Given the description of an element on the screen output the (x, y) to click on. 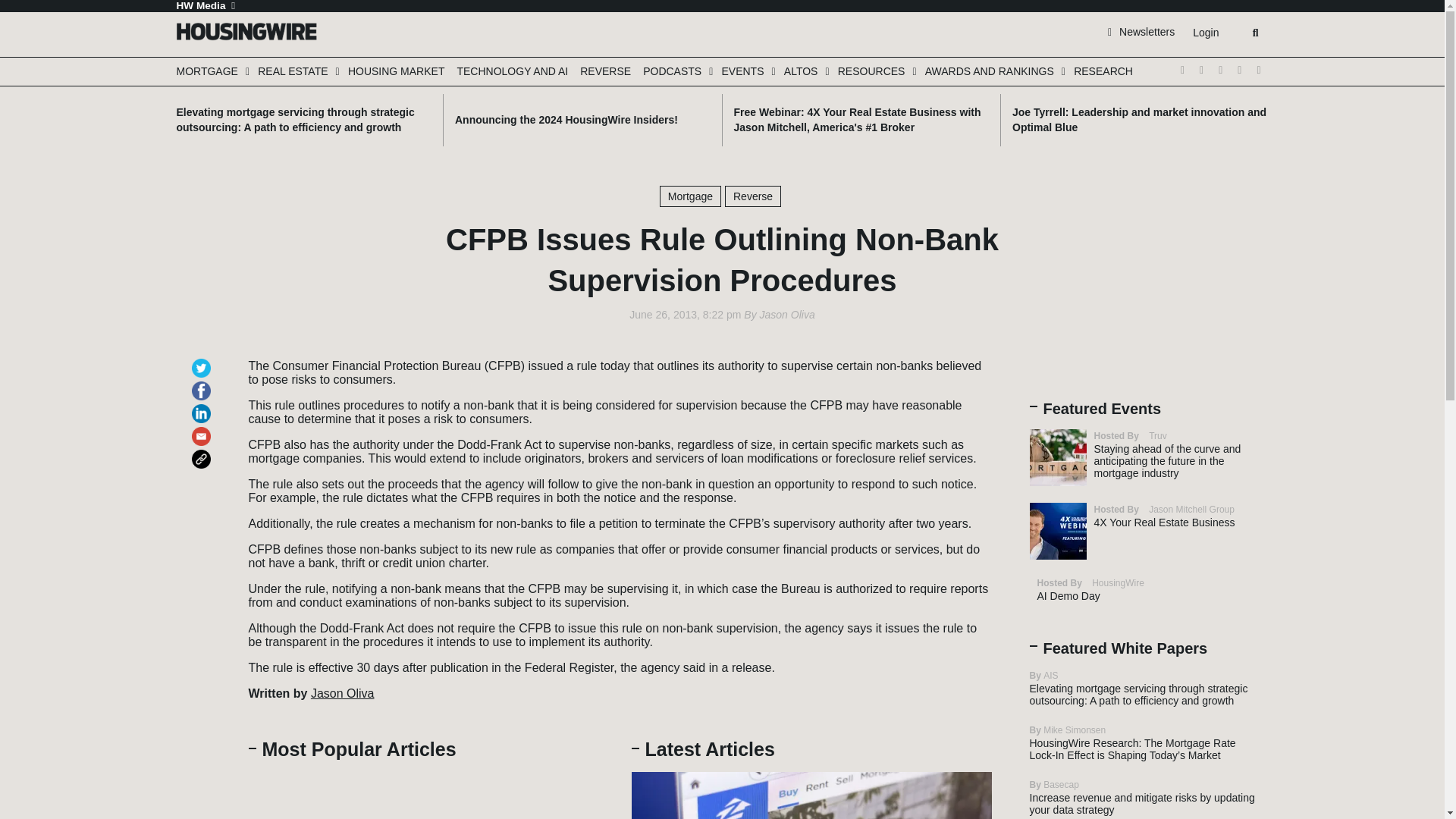
Click to share on Facebook (203, 383)
Login (1205, 32)
Click to email a link to a friend (203, 429)
Click to copy link (203, 452)
Newsletters (1141, 31)
Click to share on LinkedIn (203, 406)
Posts by Jason Oliva (787, 314)
Click to share on Twitter (203, 360)
